Given the description of an element on the screen output the (x, y) to click on. 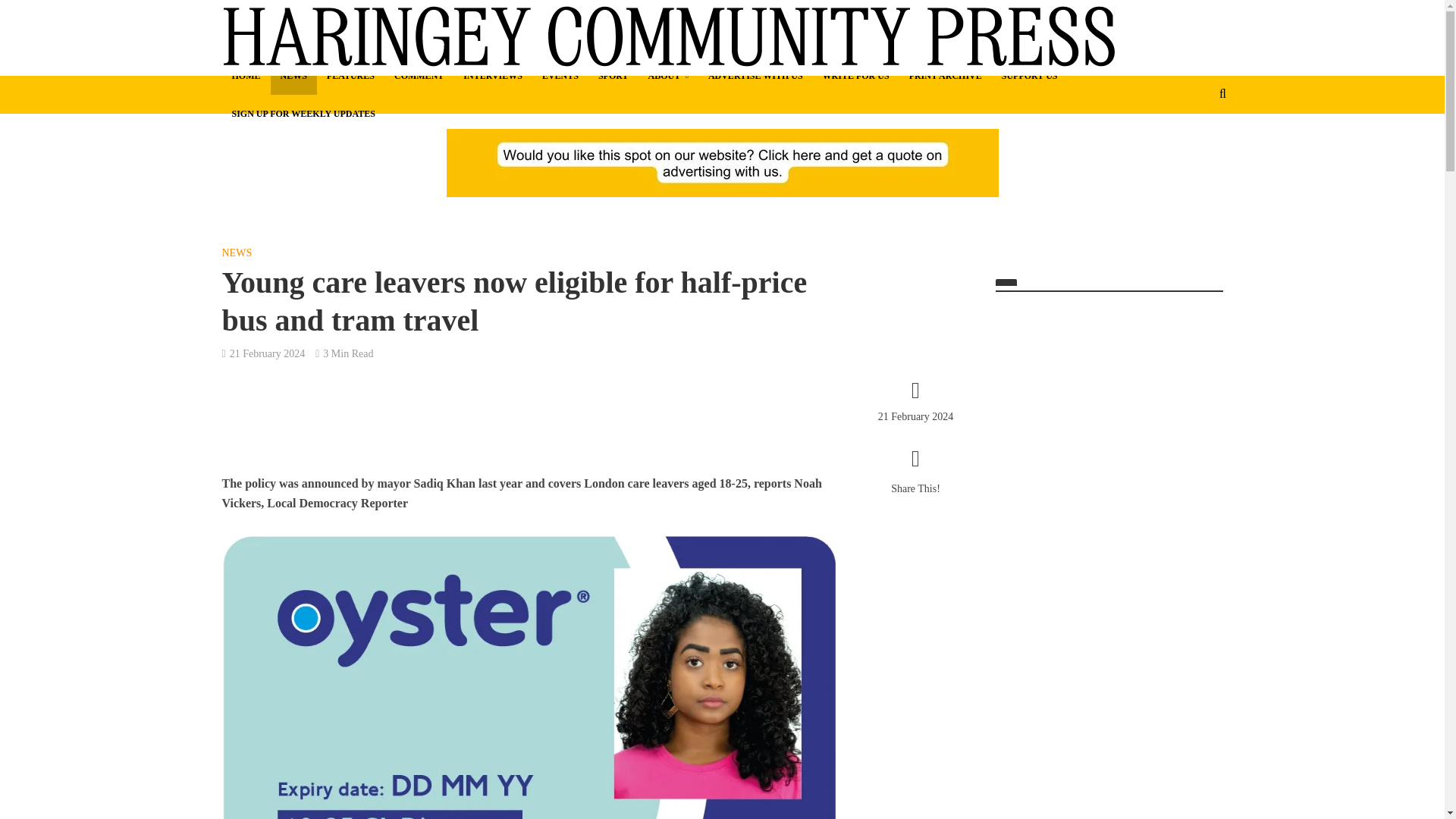
COMMENT (418, 75)
PRINT ARCHIVE (945, 75)
SUPPORT US (1029, 75)
SIGN UP FOR WEEKLY UPDATES (302, 113)
SPORT (613, 75)
EVENTS (560, 75)
ABOUT (668, 75)
FEATURES (350, 75)
NEWS (292, 75)
ADVERTISE WITH US (755, 75)
